Given the description of an element on the screen output the (x, y) to click on. 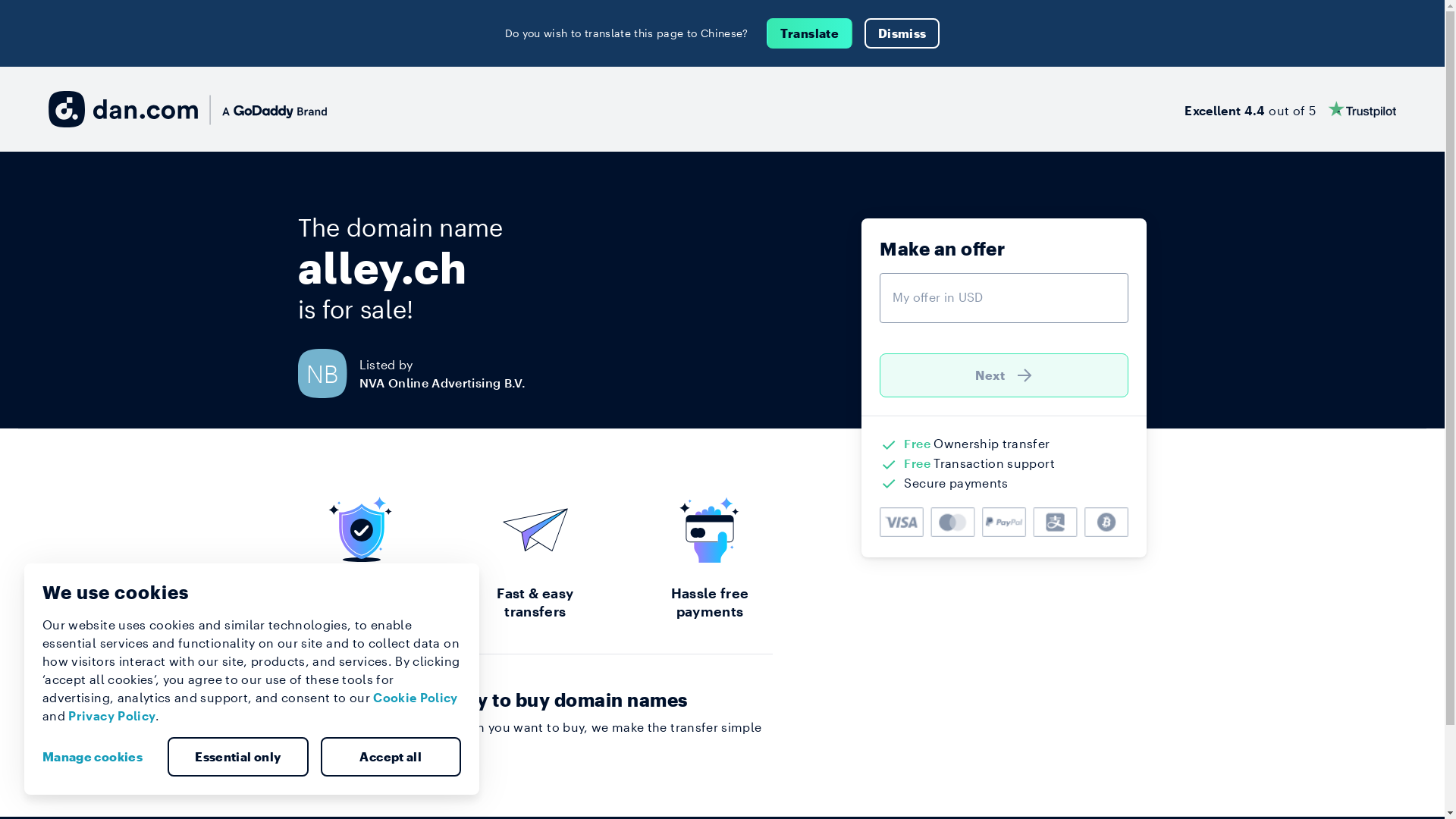
Excellent 4.4 out of 5 Element type: text (1290, 109)
Translate Element type: text (809, 33)
Essential only Element type: text (237, 756)
Next
) Element type: text (1003, 375)
Privacy Policy Element type: text (111, 715)
Dismiss Element type: text (901, 33)
Manage cookies Element type: text (98, 756)
Cookie Policy Element type: text (415, 697)
Accept all Element type: text (390, 756)
